Given the description of an element on the screen output the (x, y) to click on. 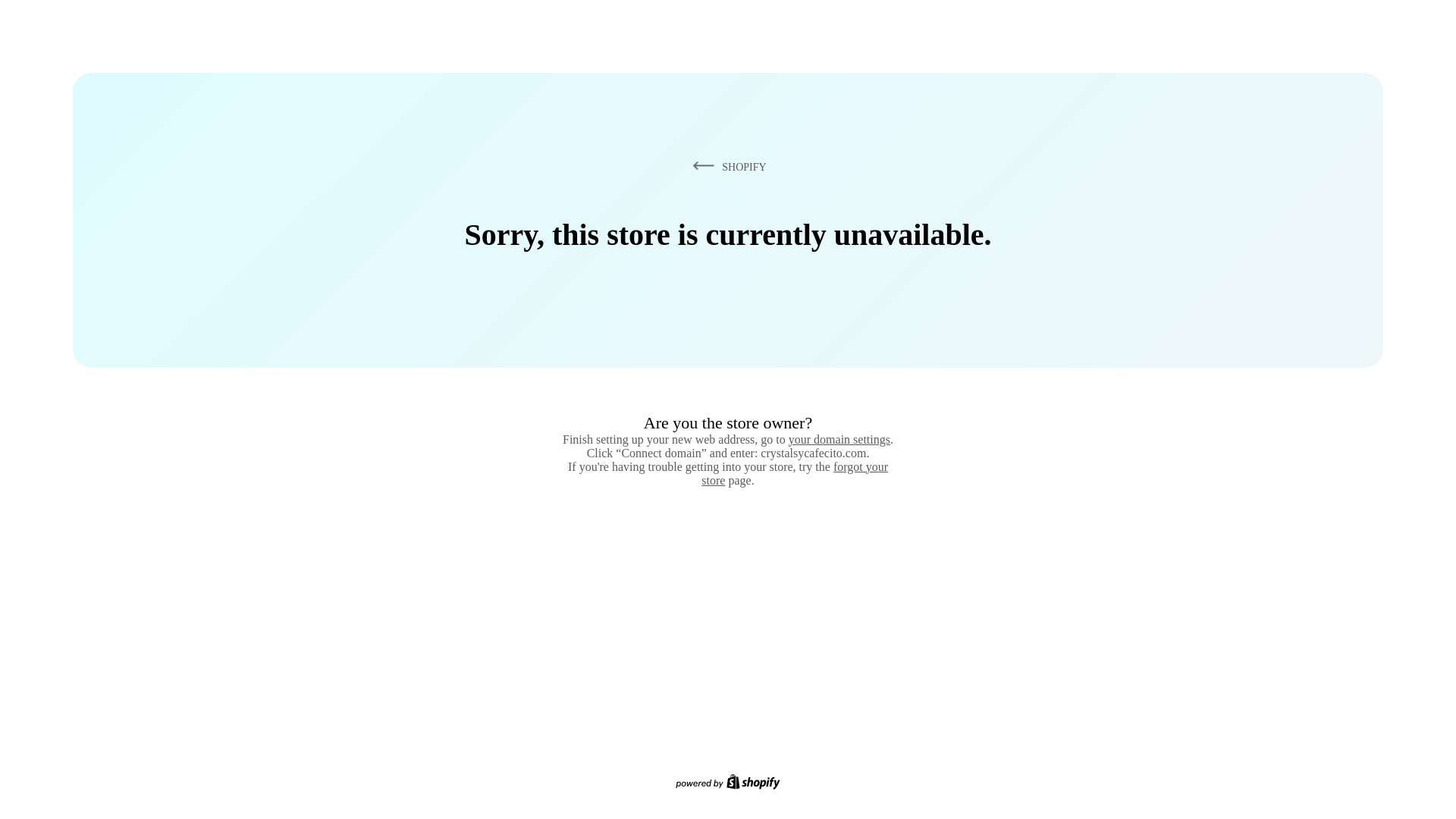
SHOPIFY (726, 166)
forgot your store (794, 473)
your domain settings (839, 439)
